Given the description of an element on the screen output the (x, y) to click on. 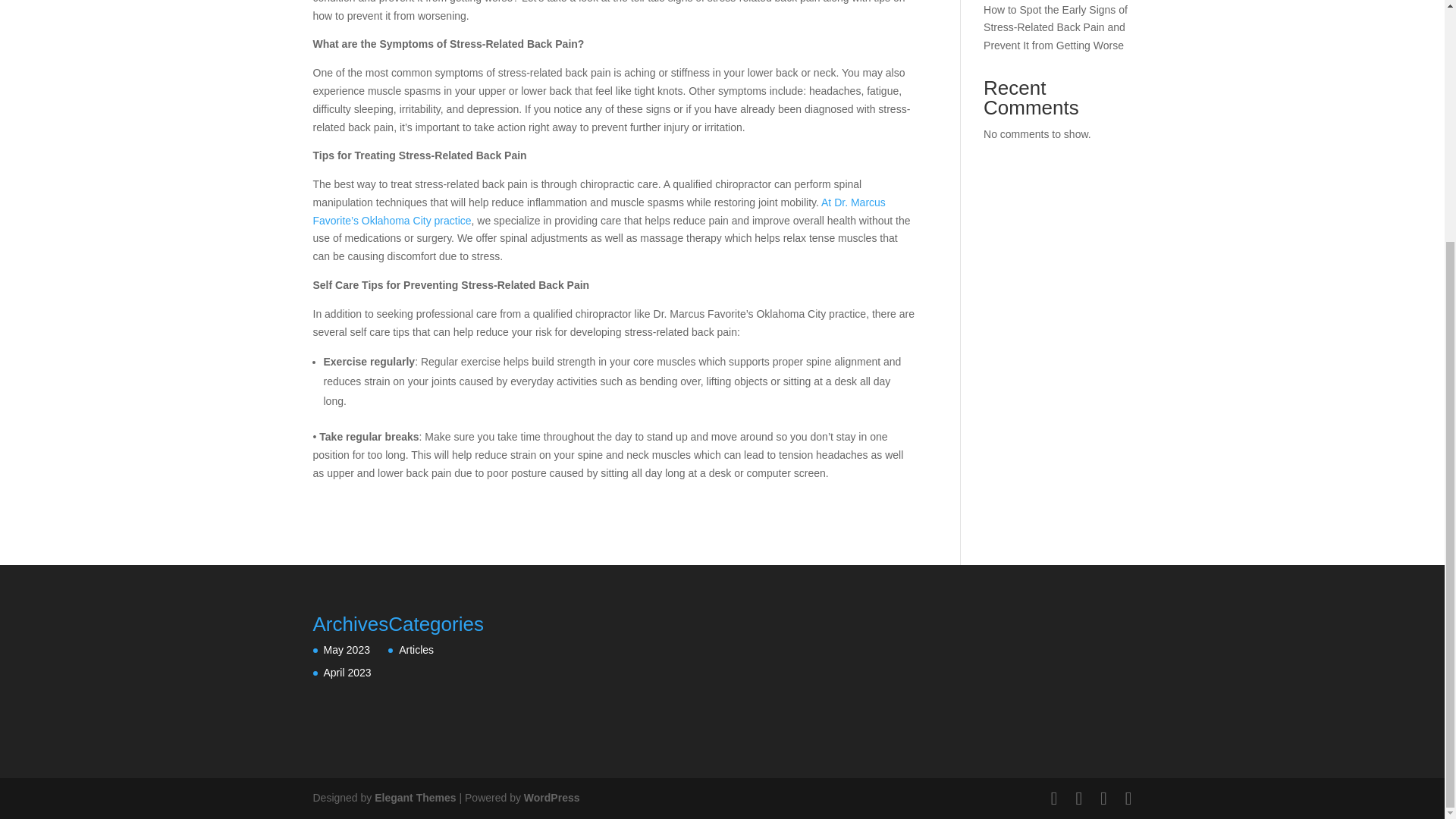
Elegant Themes (414, 797)
Articles (415, 649)
May 2023 (346, 649)
WordPress (551, 797)
April 2023 (347, 672)
Premium WordPress Themes (414, 797)
